Given the description of an element on the screen output the (x, y) to click on. 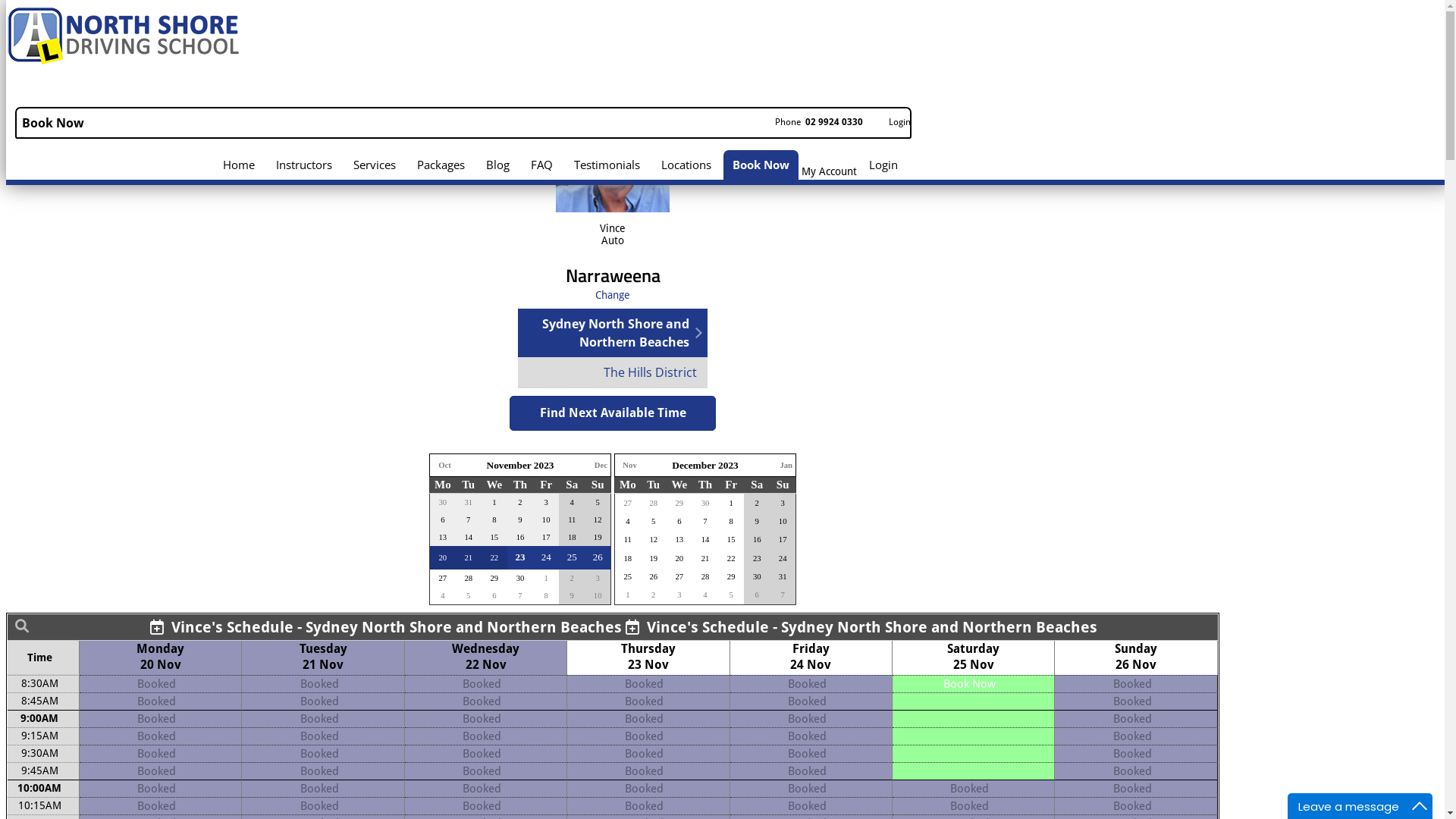
3 Element type: text (597, 578)
11 Element type: text (627, 539)
28 Element type: text (468, 578)
2 Element type: text (653, 594)
FAQ Element type: text (541, 164)
Login Element type: text (892, 122)
Testimonials Element type: text (606, 164)
8 Element type: text (730, 521)
17 Element type: text (782, 539)
12 Element type: text (597, 519)
1 Element type: text (627, 594)
26 Element type: text (597, 556)
Services Element type: text (374, 164)
Change Element type: text (612, 294)
4 Element type: text (627, 521)
Packages Element type: text (440, 164)
Sunday
26 Nov Element type: text (1135, 656)
Wednesday
22 Nov Element type: text (485, 656)
28 Element type: text (705, 576)
29 Element type: text (679, 502)
27 Element type: text (442, 578)
18 Element type: text (627, 558)
22 Element type: text (731, 558)
4 Element type: text (572, 502)
Phone  02 9924 0330 Element type: text (812, 122)
21 Element type: text (705, 558)
Narraweena Element type: text (612, 274)
Blog Element type: text (497, 164)
25 Element type: text (572, 556)
12 Element type: text (653, 539)
30 Element type: text (705, 502)
Jan Element type: text (785, 465)
Maximize Element type: hover (1419, 806)
11 Element type: text (571, 519)
6 Element type: text (678, 521)
5 Element type: text (468, 595)
29 Element type: text (731, 576)
4 Element type: text (442, 595)
1 Element type: text (545, 578)
31 Element type: text (782, 576)
Instructors Element type: text (303, 164)
Book Now Element type: text (463, 122)
Find Next Available Time Element type: text (612, 412)
23 Element type: text (519, 556)
3 Element type: text (782, 502)
10 Element type: text (782, 521)
24 Element type: text (546, 556)
23 Element type: text (757, 558)
18 Element type: text (571, 537)
24 Element type: text (782, 558)
7 Element type: text (704, 521)
4 Element type: text (704, 594)
27 Element type: text (627, 502)
3 Element type: text (678, 594)
Book Now Element type: text (760, 164)
10 Element type: text (597, 595)
Tuesday
21 Nov Element type: text (323, 656)
Sydney North Shore and Northern Beaches Element type: text (608, 332)
6 Element type: text (757, 594)
25 Element type: text (627, 576)
14 Element type: text (705, 539)
1 Element type: text (730, 502)
Vince's Schedule - Sydney North Shore and Northern Beaches Element type: text (385, 627)
Home Element type: text (238, 164)
5 Element type: text (653, 521)
19 Element type: text (597, 537)
19 Element type: text (653, 558)
15 Element type: text (731, 539)
Book Now Element type: text (969, 683)
9 Element type: text (757, 521)
Monday
20 Nov Element type: text (160, 656)
Saturday
25 Nov Element type: text (973, 656)
27 Element type: text (679, 576)
5 Element type: text (597, 502)
13 Element type: text (679, 539)
Friday
24 Nov Element type: text (810, 656)
9 Element type: text (572, 595)
5 Element type: text (730, 594)
30 Element type: text (520, 578)
Thursday
23 Nov Element type: text (648, 656)
26 Element type: text (653, 576)
Login Element type: text (882, 164)
Oct Element type: text (444, 465)
20 Element type: text (679, 558)
30 Element type: text (757, 576)
7 Element type: text (782, 594)
7 Element type: text (519, 595)
Locations Element type: text (686, 164)
16 Element type: text (757, 539)
28 Element type: text (653, 502)
2 Element type: text (757, 502)
Nov Element type: text (629, 465)
Dec Element type: text (600, 465)
8 Element type: text (545, 595)
The Hills District Element type: text (612, 372)
2 Element type: text (572, 578)
6 Element type: text (493, 595)
29 Element type: text (494, 578)
